Given the description of an element on the screen output the (x, y) to click on. 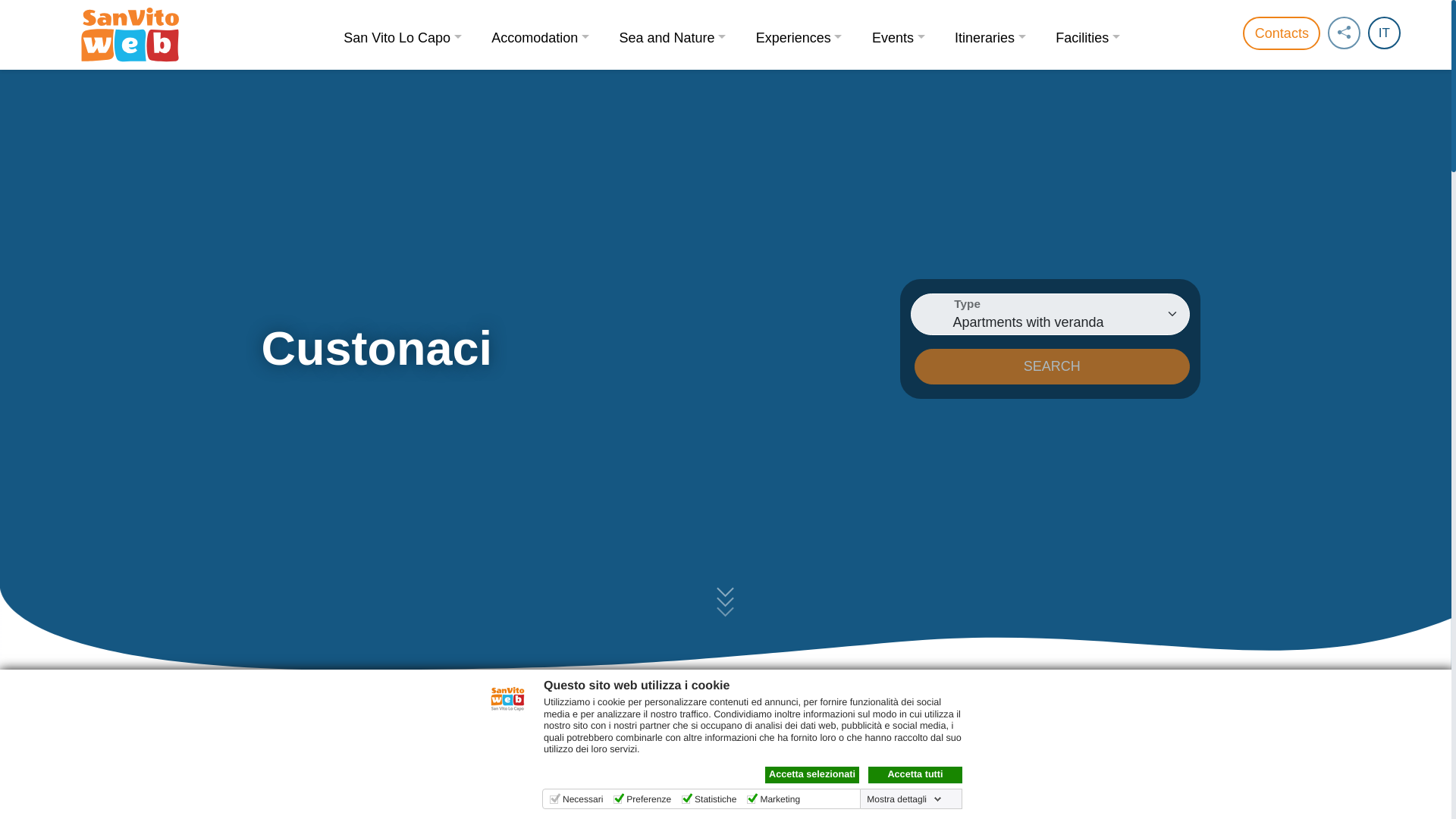
Accetta selezionati (812, 774)
Mostra dettagli (903, 799)
Accetta tutti (914, 774)
